Given the description of an element on the screen output the (x, y) to click on. 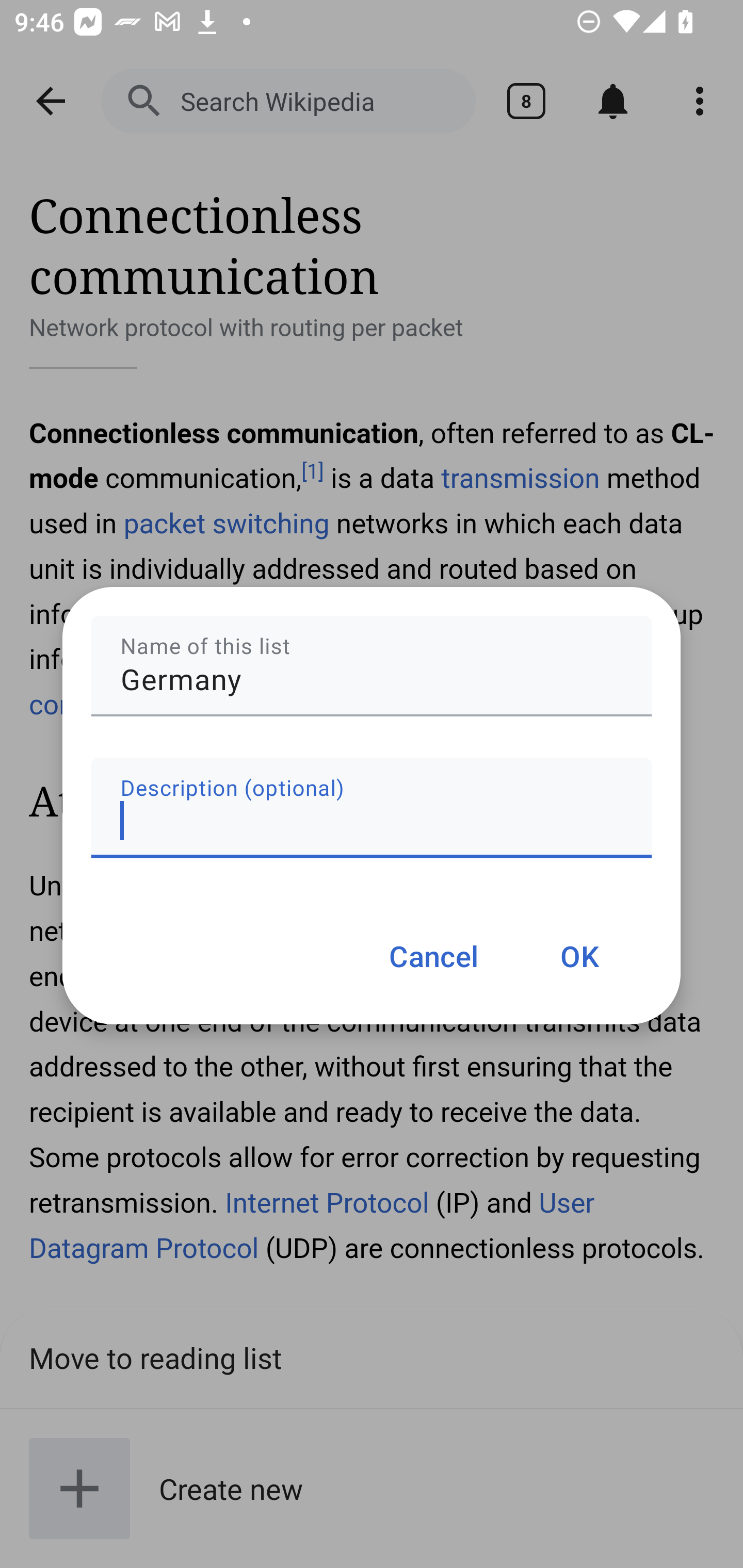
Germany (371, 666)
Description (optional) (371, 807)
Cancel (433, 955)
OK (579, 955)
